Given the description of an element on the screen output the (x, y) to click on. 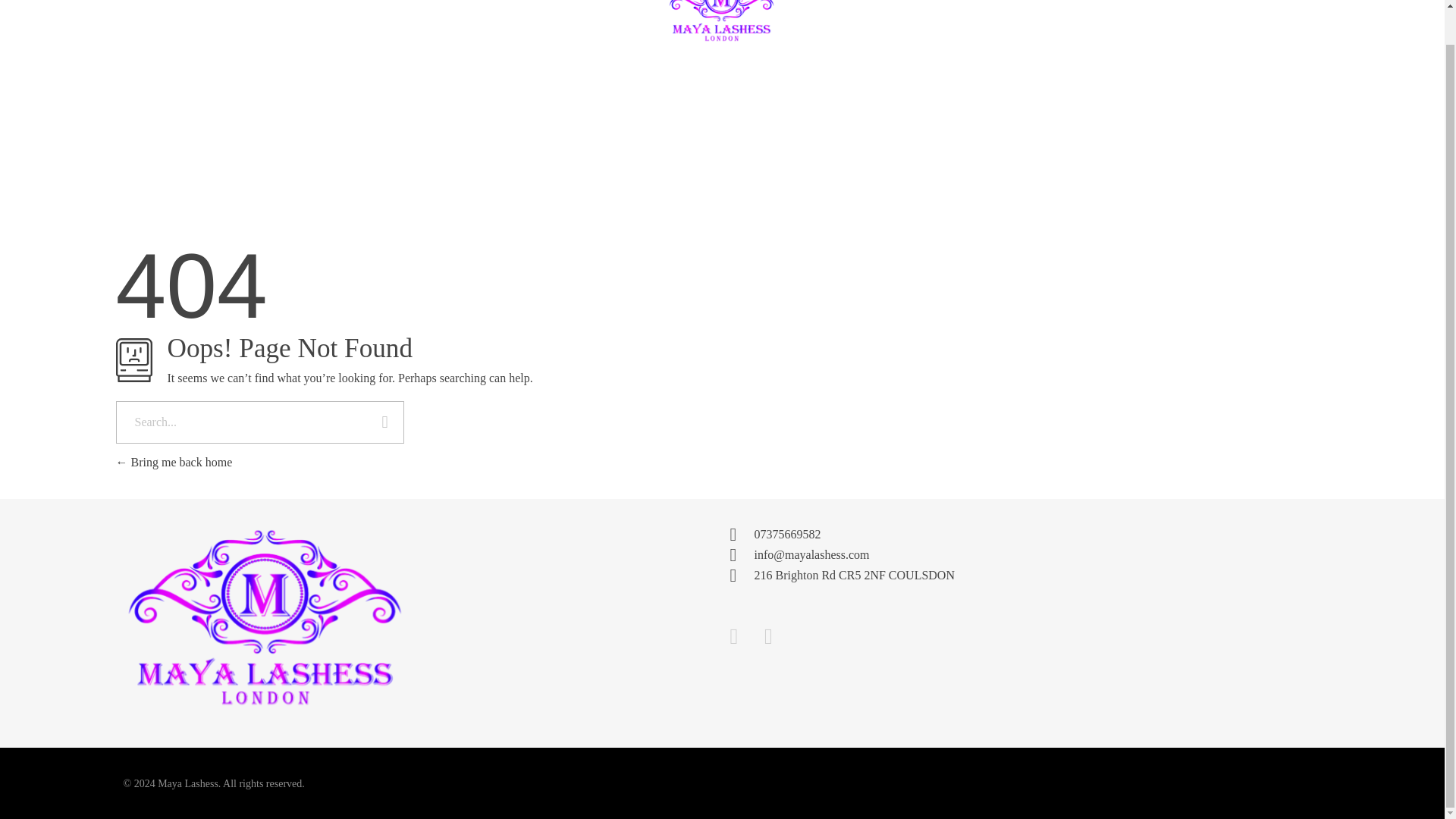
216 Brighton Rd CR5 2NF COULSDON (1176, 621)
Bring me back home (173, 461)
Maya Lashess (162, 720)
Maya Lashess (240, 618)
